Given the description of an element on the screen output the (x, y) to click on. 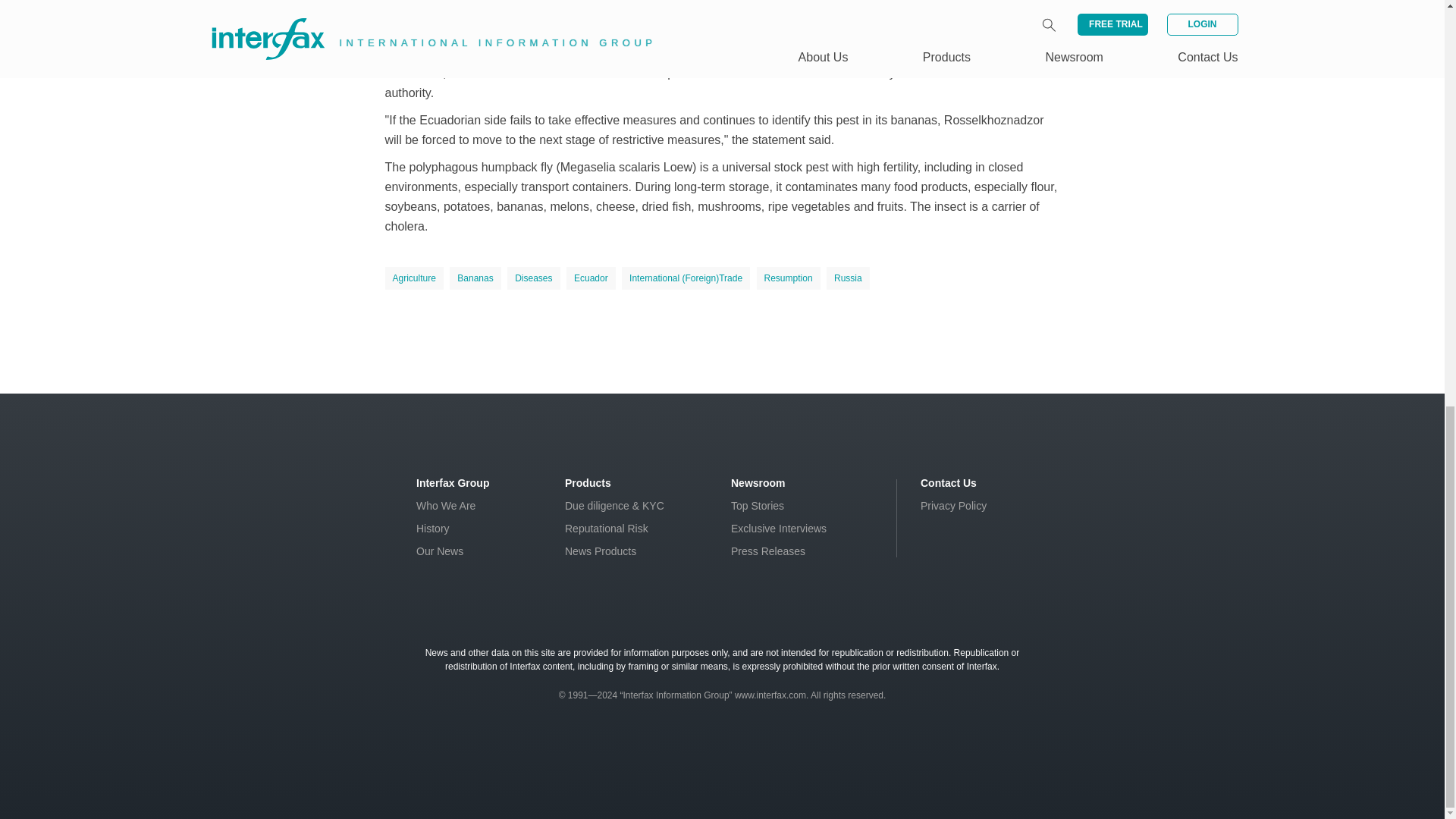
Diseases (532, 277)
Agriculture (414, 277)
Bananas (474, 277)
Ecuador (590, 277)
